Given the description of an element on the screen output the (x, y) to click on. 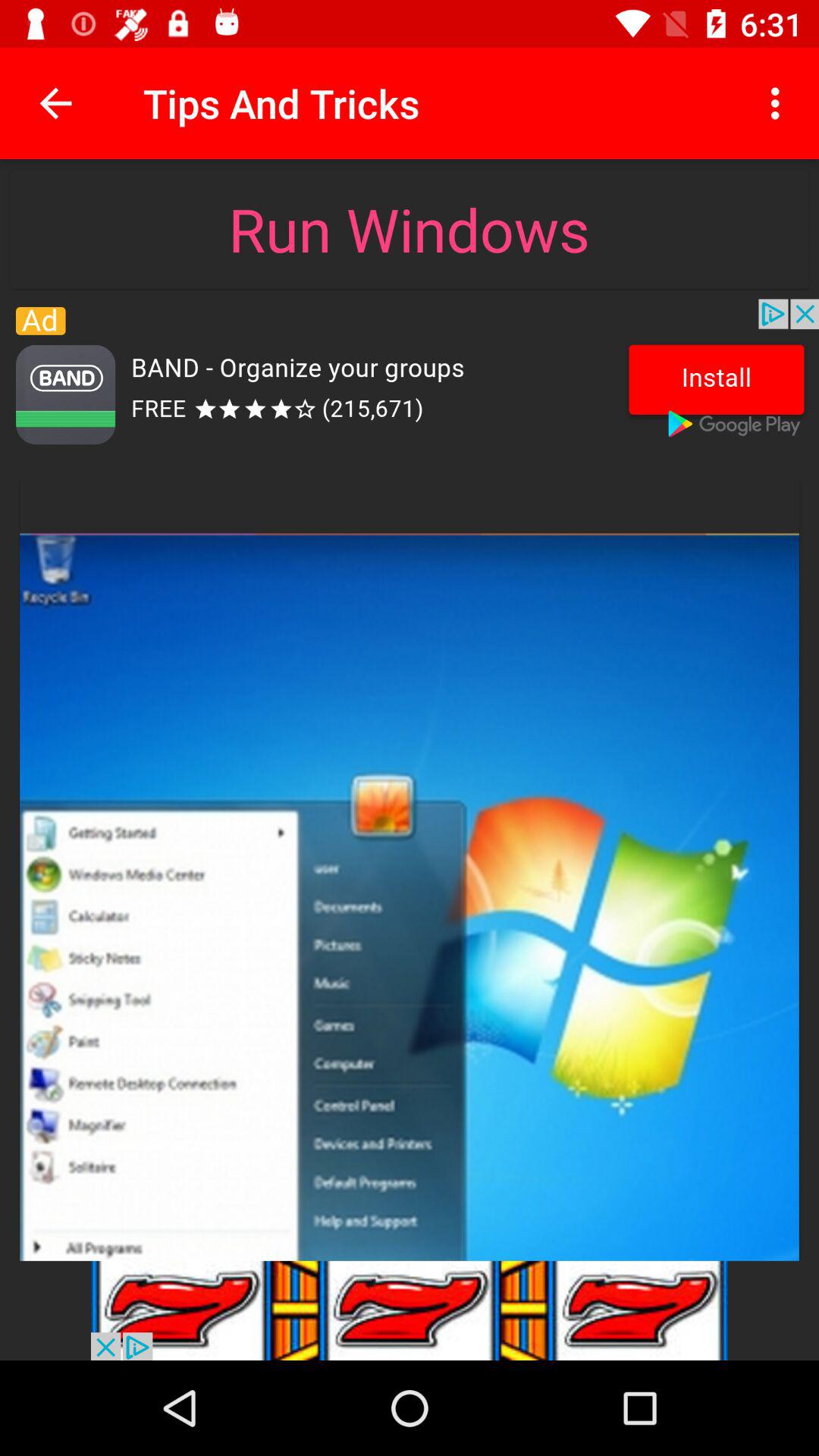
go to advertisement (409, 1310)
